Given the description of an element on the screen output the (x, y) to click on. 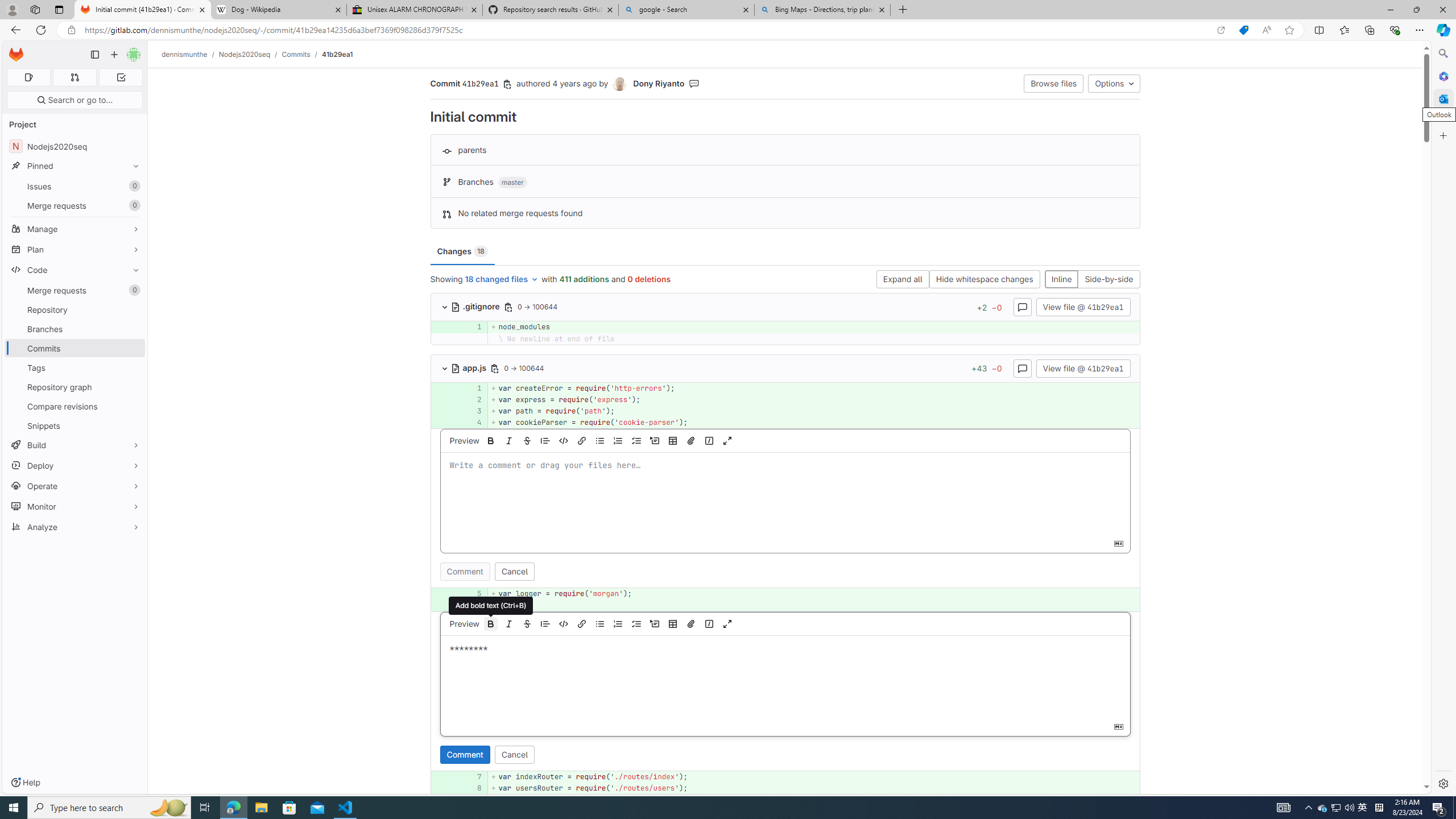
Pin Tags (132, 367)
AutomationID: 4a68969ef8e858229267b842dedf42ab5dde4d50_0_5 (785, 594)
Commits/ (301, 53)
Shopping in Microsoft Edge (1243, 29)
NNodejs2020seq (74, 145)
master (512, 182)
AutomationID: 4a68969ef8e858229267b842dedf42ab5dde4d50_0_3 (785, 410)
Branches (74, 328)
Tags (74, 367)
Snippets (74, 425)
Pinned (74, 165)
Dony Riyanto (658, 83)
3 (472, 410)
